Given the description of an element on the screen output the (x, y) to click on. 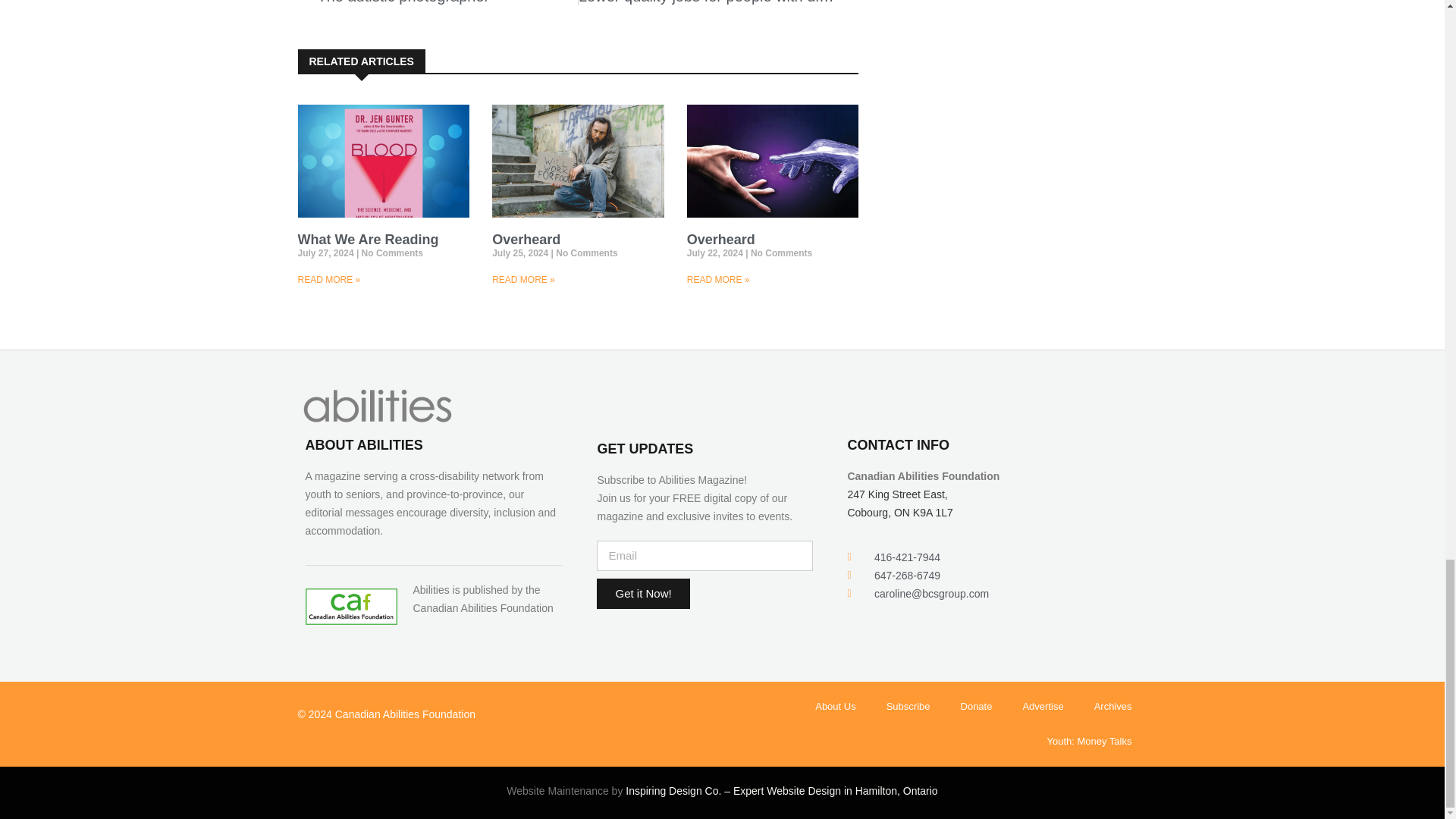
bcs-abilities-logo-header-1-2 (436, 2)
What We Are Reading (376, 405)
